Given the description of an element on the screen output the (x, y) to click on. 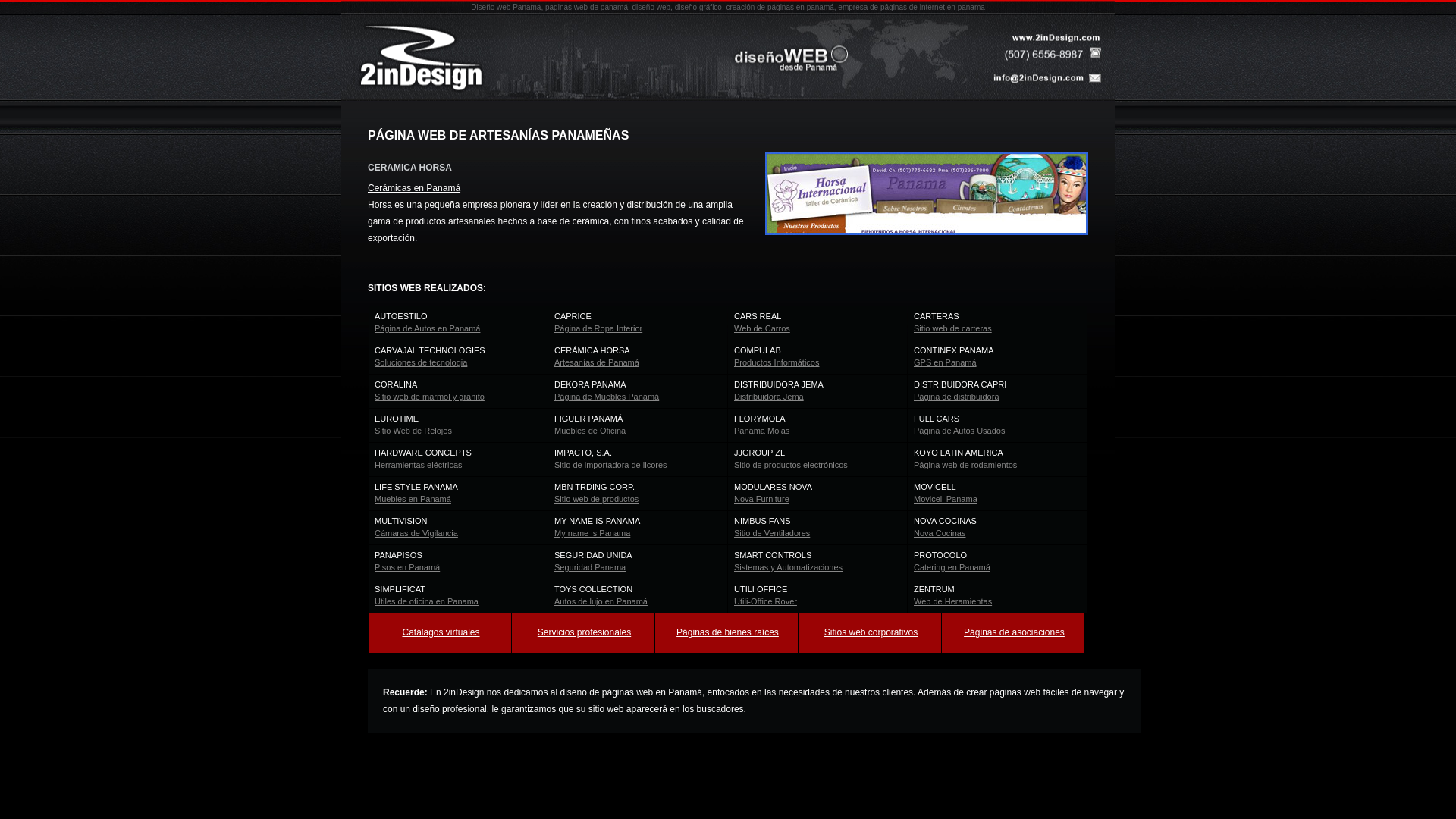
Utiles de oficina en Panama Element type: text (426, 600)
Nova Cocinas Element type: text (939, 532)
Sitio Web de Relojes Element type: text (412, 430)
Web de Heramientas Element type: text (952, 600)
Distribuidora Jema Element type: text (768, 396)
My name is Panama Element type: text (592, 532)
Muebles de Oficina Element type: text (589, 430)
Soluciones de tecnologia Element type: text (420, 362)
Panama Molas Element type: text (761, 430)
Sitios web corporativos Element type: text (870, 632)
Sitio de importadora de licores Element type: text (610, 464)
Sitio de Ventiladores Element type: text (771, 532)
Sitio web de carteras Element type: text (952, 327)
Utili-Office Rover Element type: text (765, 600)
Seguridad Panama Element type: text (589, 566)
Sitio web de productos Element type: text (596, 498)
Sitio web de marmol y granito Element type: text (429, 396)
Web de Carros Element type: text (762, 327)
Nova Furniture Element type: text (761, 498)
Sistemas y Automatizaciones Element type: text (788, 566)
Movicell Panama Element type: text (945, 498)
Servicios profesionales Element type: text (583, 632)
